Given the description of an element on the screen output the (x, y) to click on. 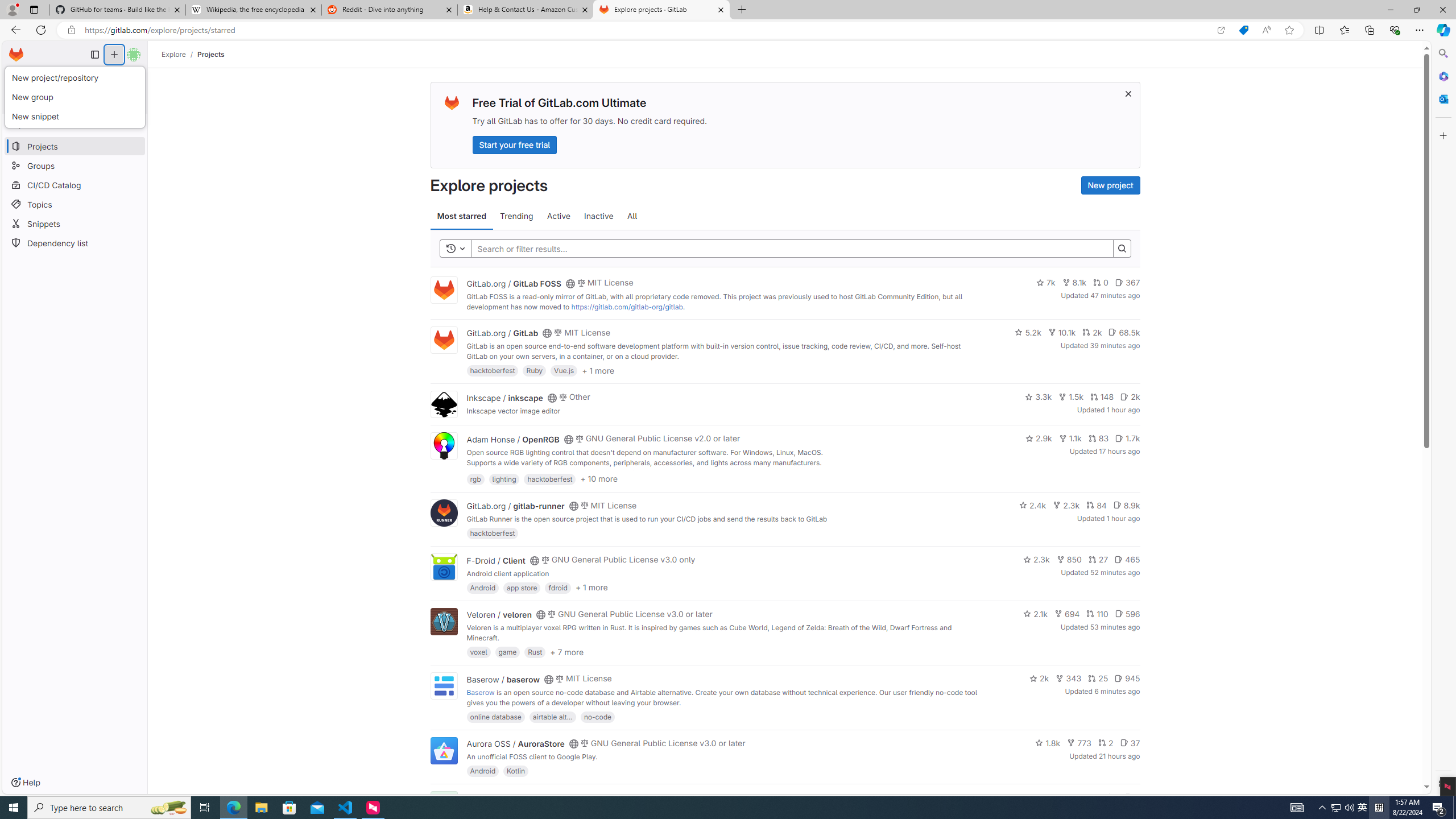
850 (1068, 559)
465 (1127, 559)
https://openrgb.org (563, 472)
Class: project (443, 750)
Trending (516, 216)
All (632, 216)
1.4k (1054, 797)
GitLab.org / gitlab-runner (514, 506)
Toggle history (455, 248)
367 (1127, 282)
Baserow / baserow (502, 678)
1.5k (1070, 396)
F (443, 805)
